Given the description of an element on the screen output the (x, y) to click on. 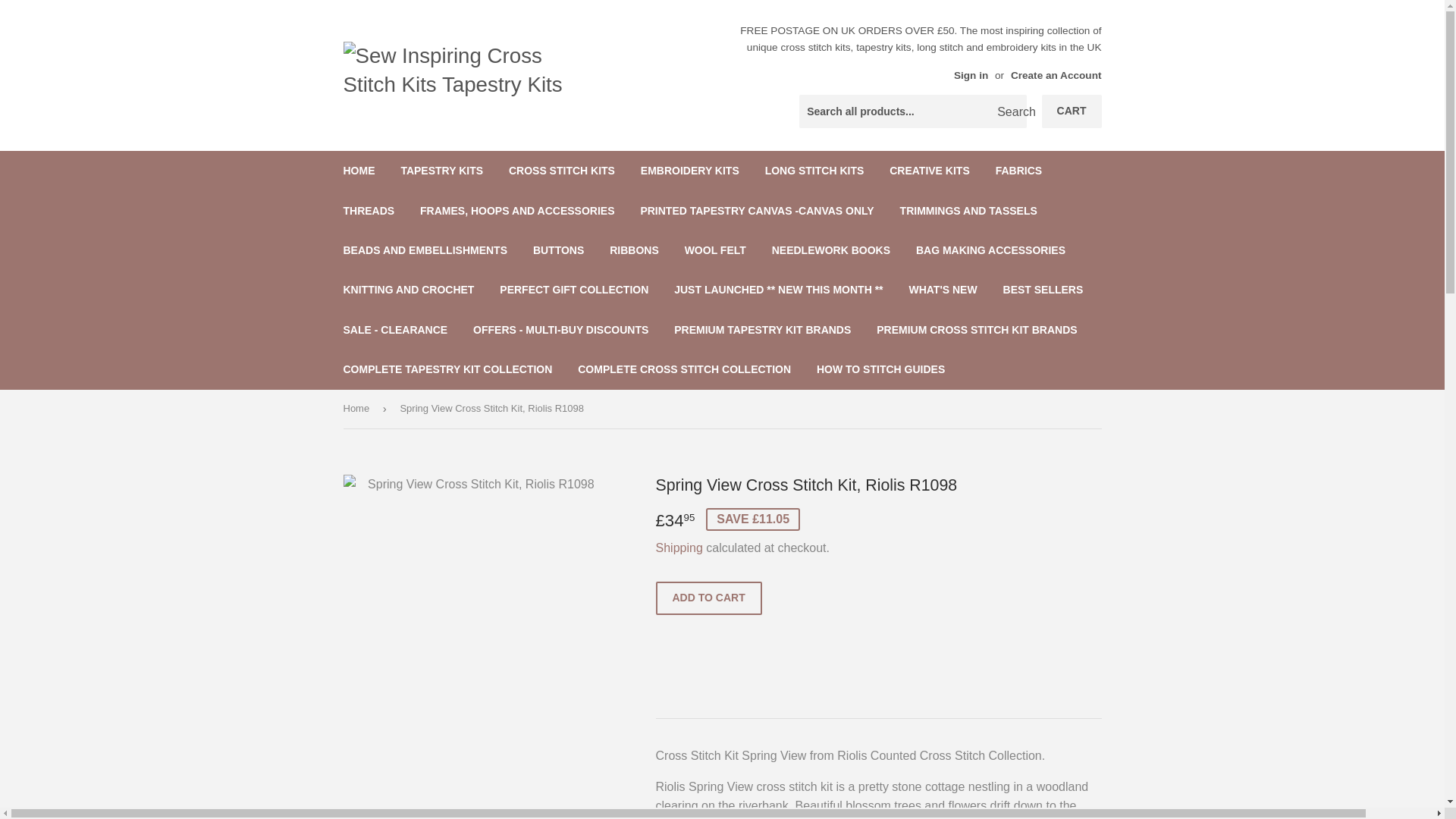
Create an Account (1056, 75)
CART (1072, 111)
Sign in (970, 75)
Search (1009, 111)
